Given the description of an element on the screen output the (x, y) to click on. 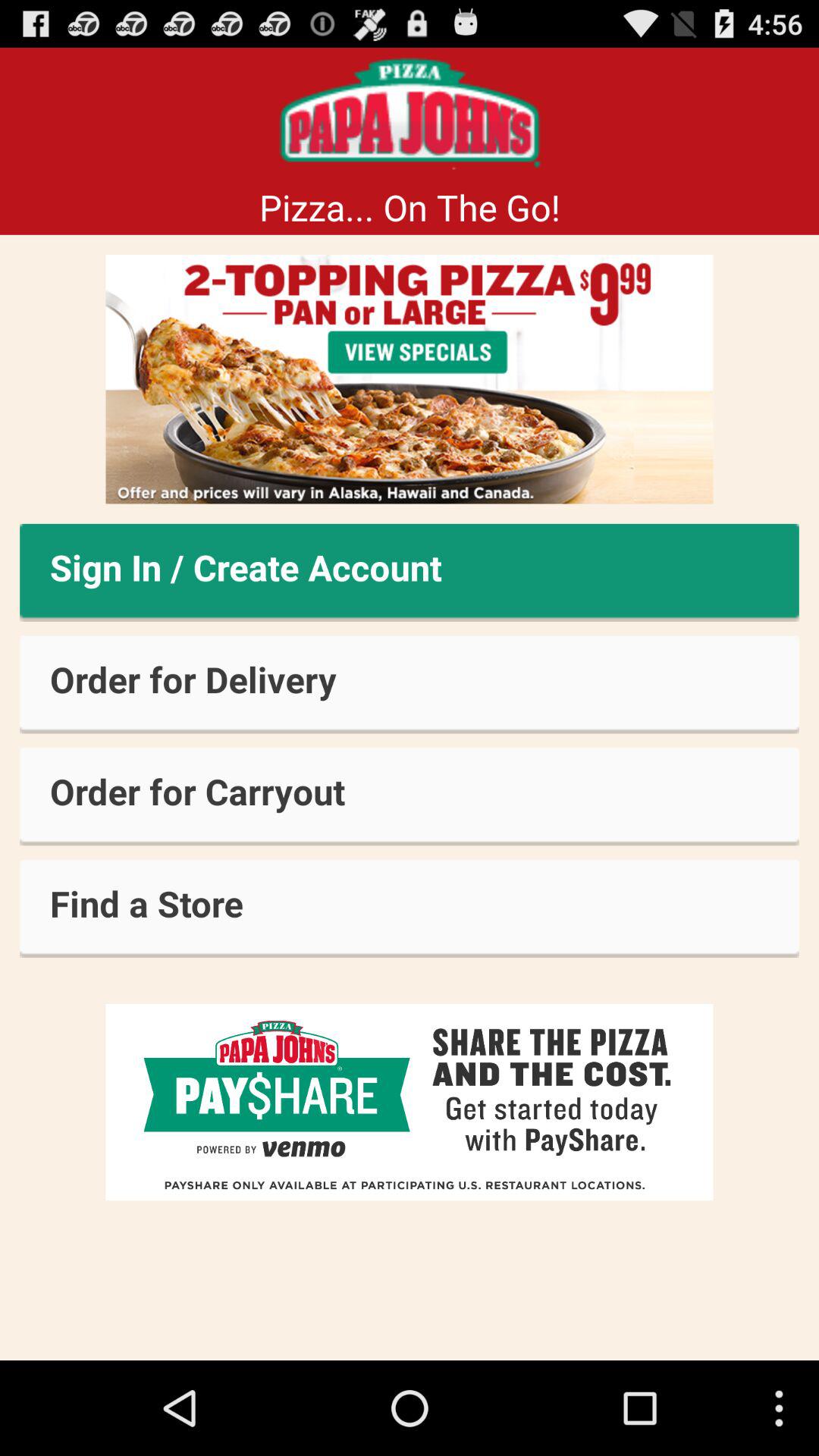
swipe to find a store (409, 908)
